Given the description of an element on the screen output the (x, y) to click on. 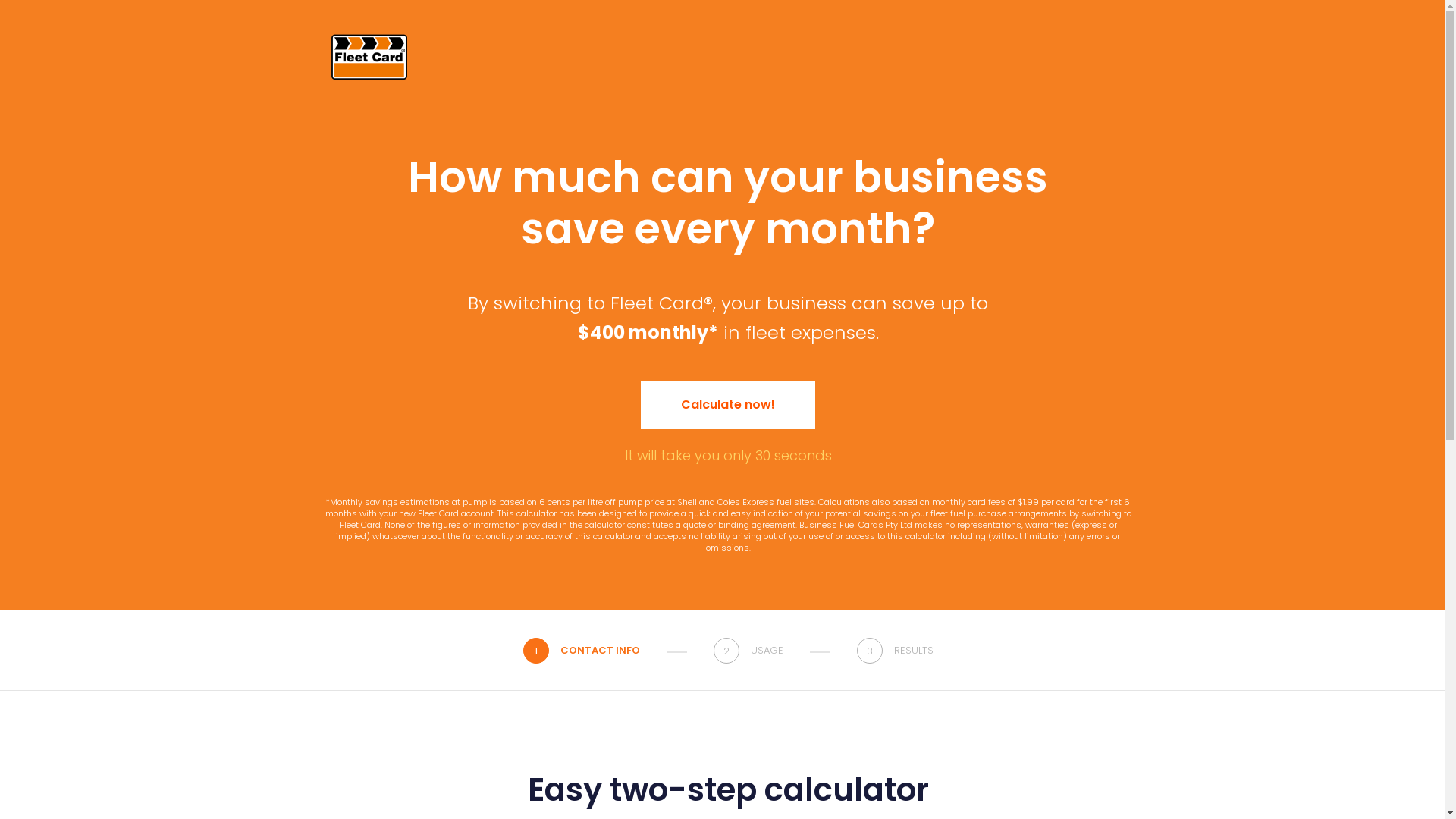
Fleet Card Element type: hover (369, 56)
Skip to content Element type: text (0, 0)
Calculate now! Element type: text (727, 404)
